Given the description of an element on the screen output the (x, y) to click on. 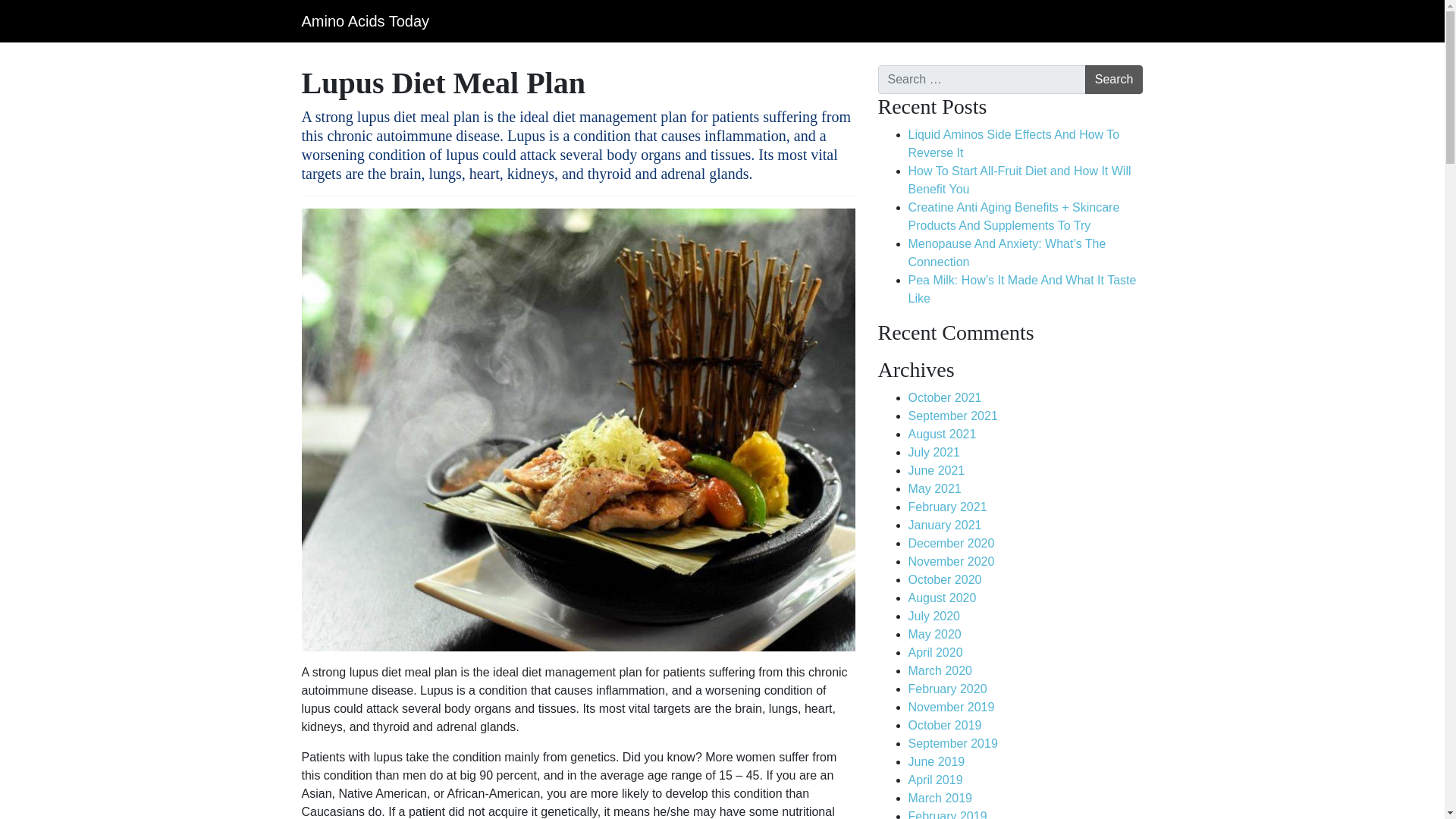
April 2019 (935, 779)
May 2020 (934, 634)
May 2021 (934, 488)
November 2020 (951, 561)
August 2021 (942, 433)
July 2020 (934, 615)
July 2021 (934, 451)
March 2020 (940, 670)
February 2021 (947, 506)
October 2019 (944, 725)
